Given the description of an element on the screen output the (x, y) to click on. 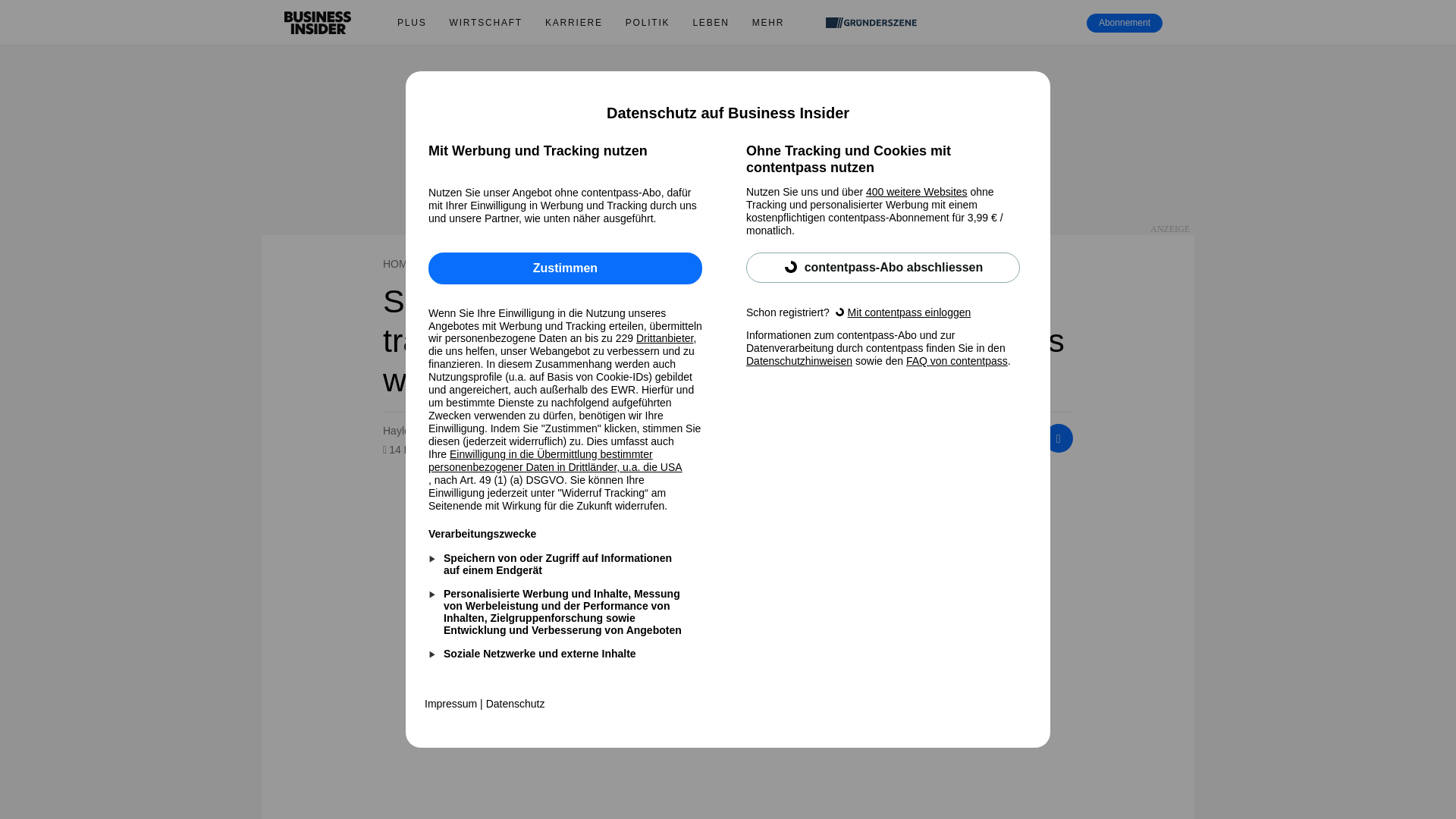
KARRIERE (574, 22)
POLITIK (647, 22)
WIRTSCHAFT (486, 22)
PLUS (411, 22)
LEBEN (710, 22)
